Given the description of an element on the screen output the (x, y) to click on. 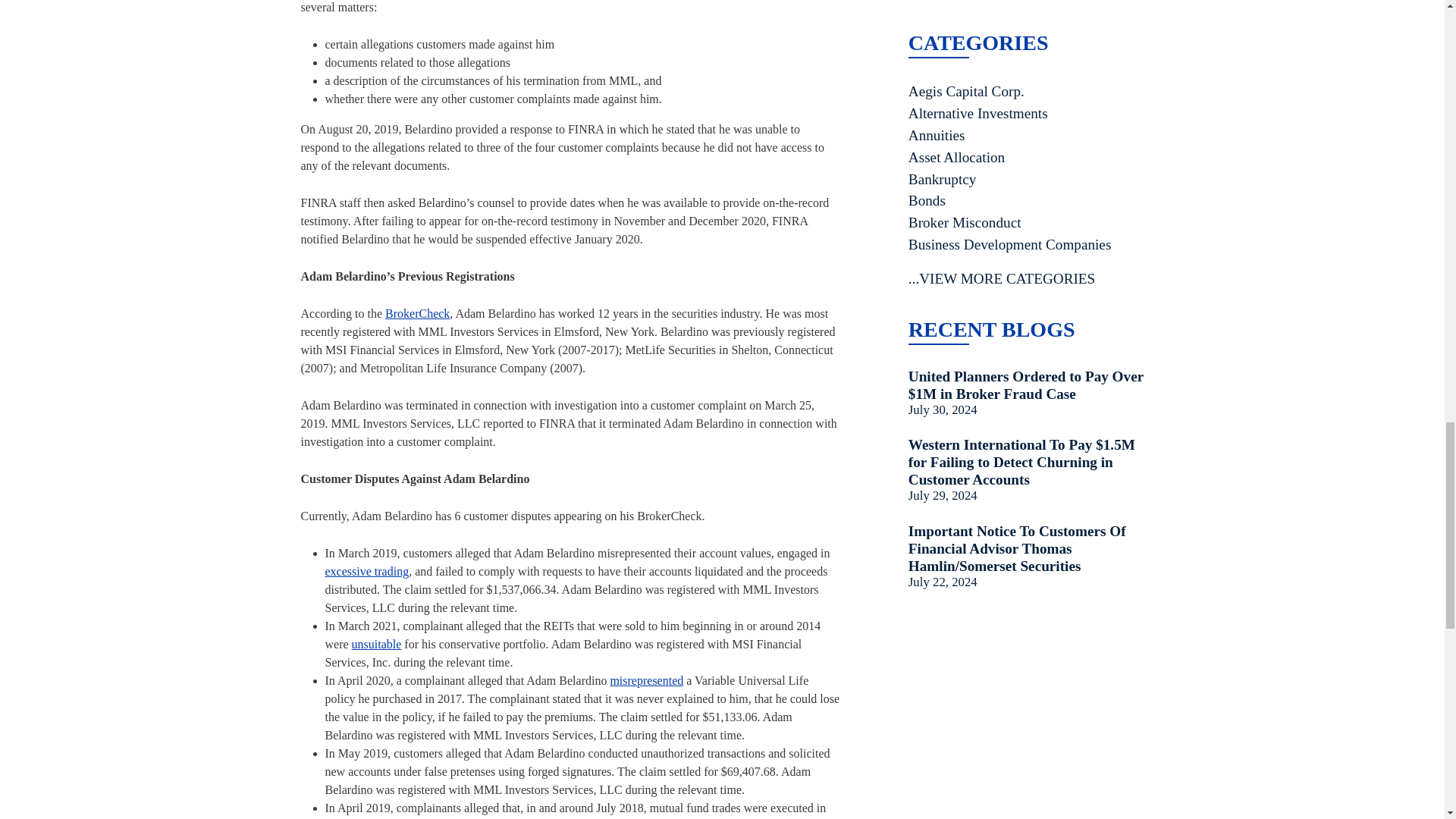
unsuitable (376, 644)
Bankruptcy (1026, 179)
Asset Allocation (1026, 157)
Business Development Companies (1026, 245)
Bonds (1026, 201)
BrokerCheck (417, 313)
misrepresented (646, 680)
Broker Misconduct (1026, 223)
Alternative Investments (1026, 114)
Annuities (1026, 136)
Aegis Capital Corp. (1026, 92)
excessive trading (366, 571)
